Given the description of an element on the screen output the (x, y) to click on. 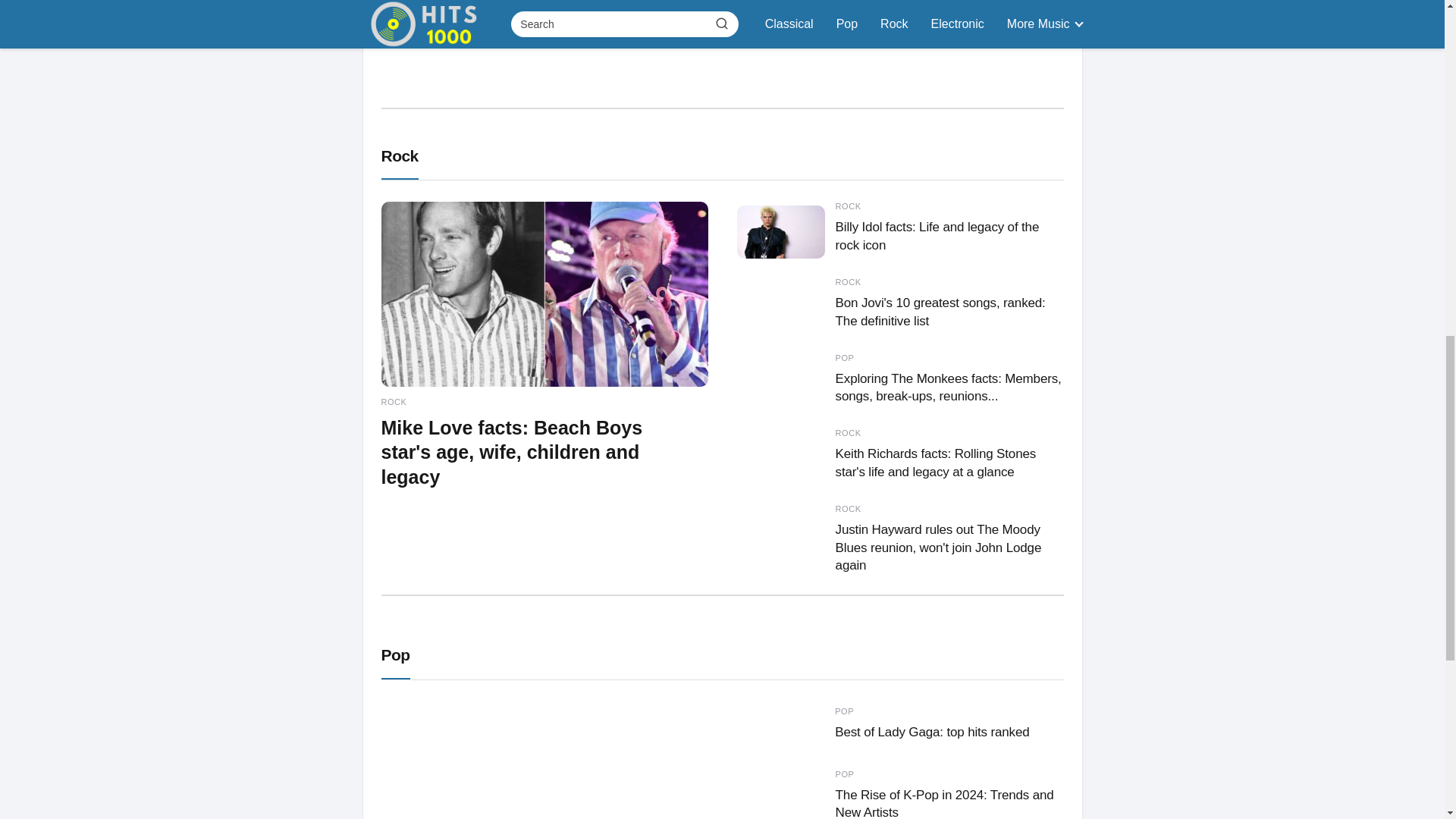
Pop (543, 760)
Rock (900, 794)
